Given the description of an element on the screen output the (x, y) to click on. 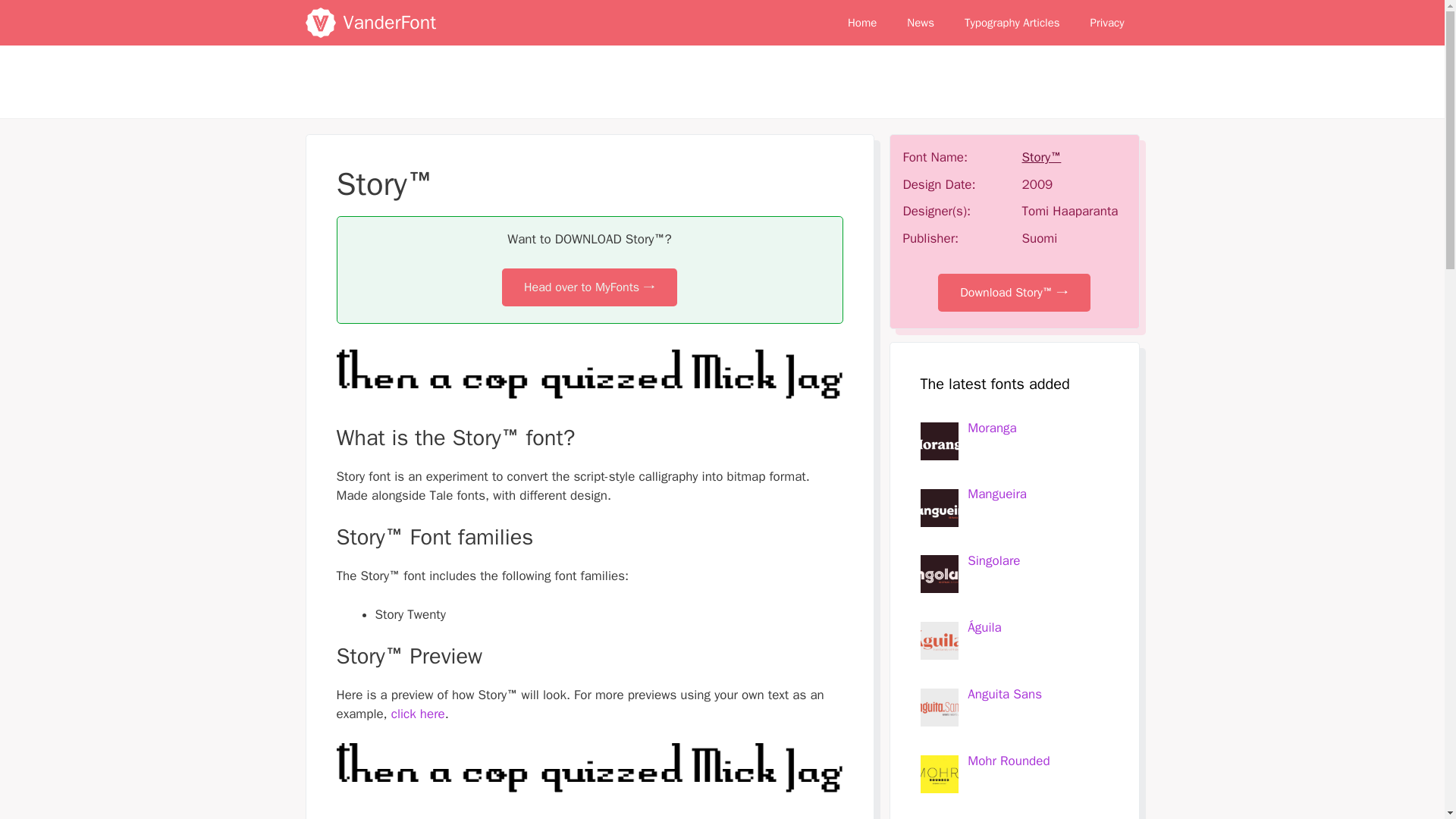
Singolare (994, 560)
Moranga (992, 427)
Mangueira (997, 494)
click here (418, 713)
News (920, 22)
Home (861, 22)
VanderFont (388, 22)
Typography Articles (1012, 22)
Anguita Sans (1005, 693)
Privacy (1107, 22)
Mohr Rounded (1008, 760)
